Given the description of an element on the screen output the (x, y) to click on. 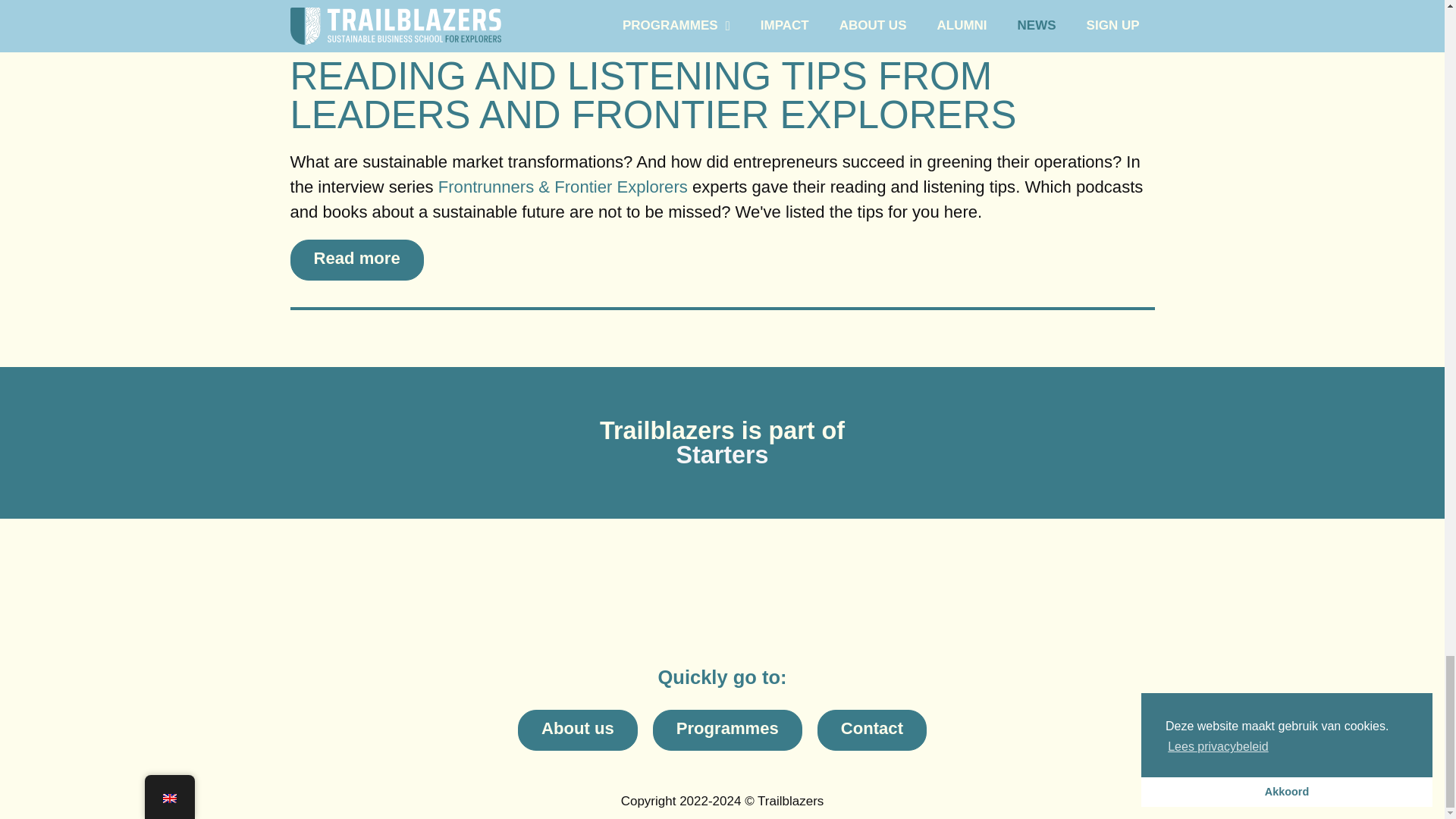
Page 1 (721, 801)
